Given the description of an element on the screen output the (x, y) to click on. 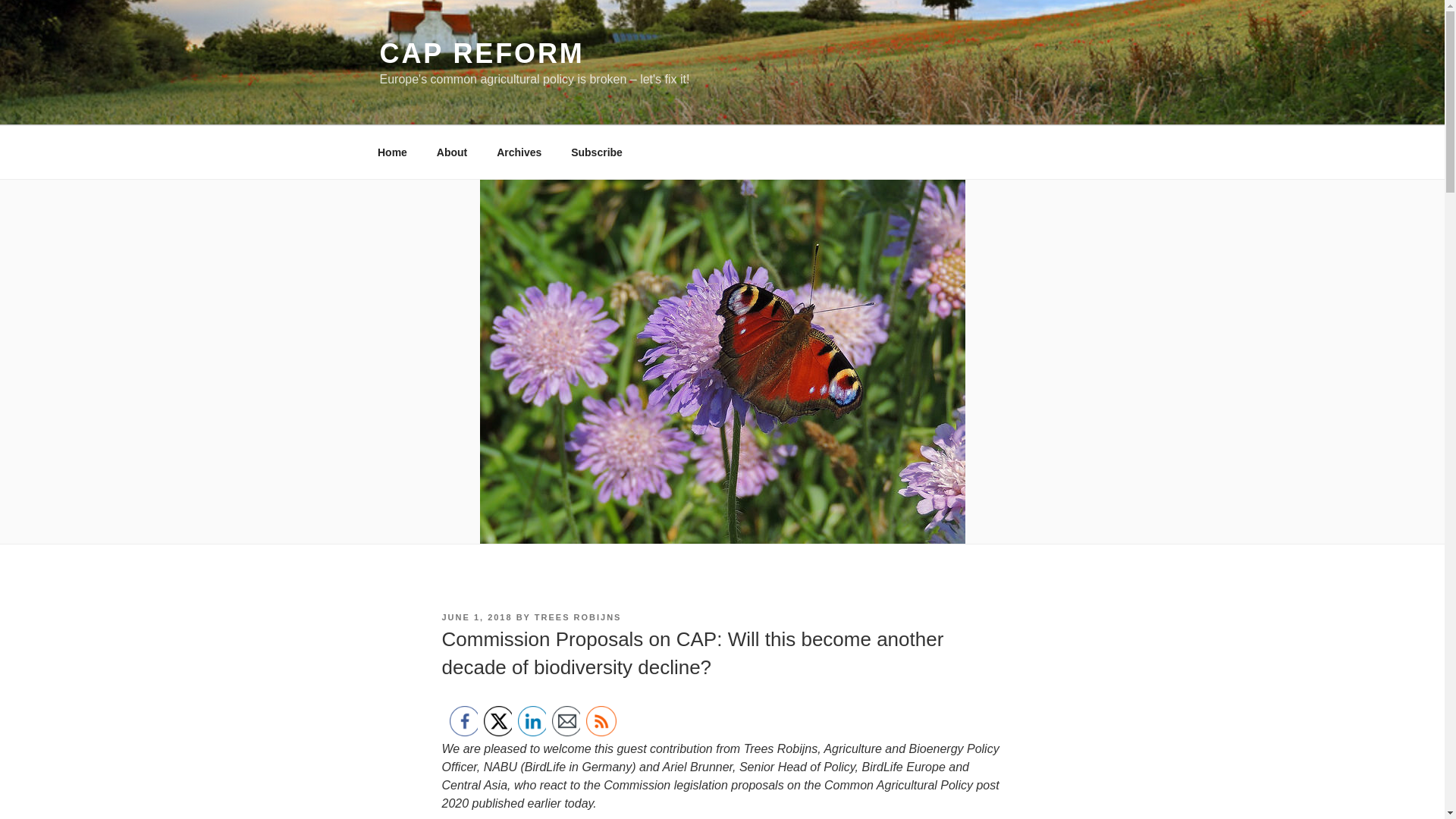
TREES ROBIJNS (577, 616)
About (451, 151)
JUNE 1, 2018 (476, 616)
CAP REFORM (480, 52)
EMAIL (566, 720)
Subscribe (596, 151)
Home (392, 151)
FACEBOOK (463, 720)
TWITTER (498, 720)
RSS (600, 720)
Archives (518, 151)
LINKEDIN (531, 720)
